Given the description of an element on the screen output the (x, y) to click on. 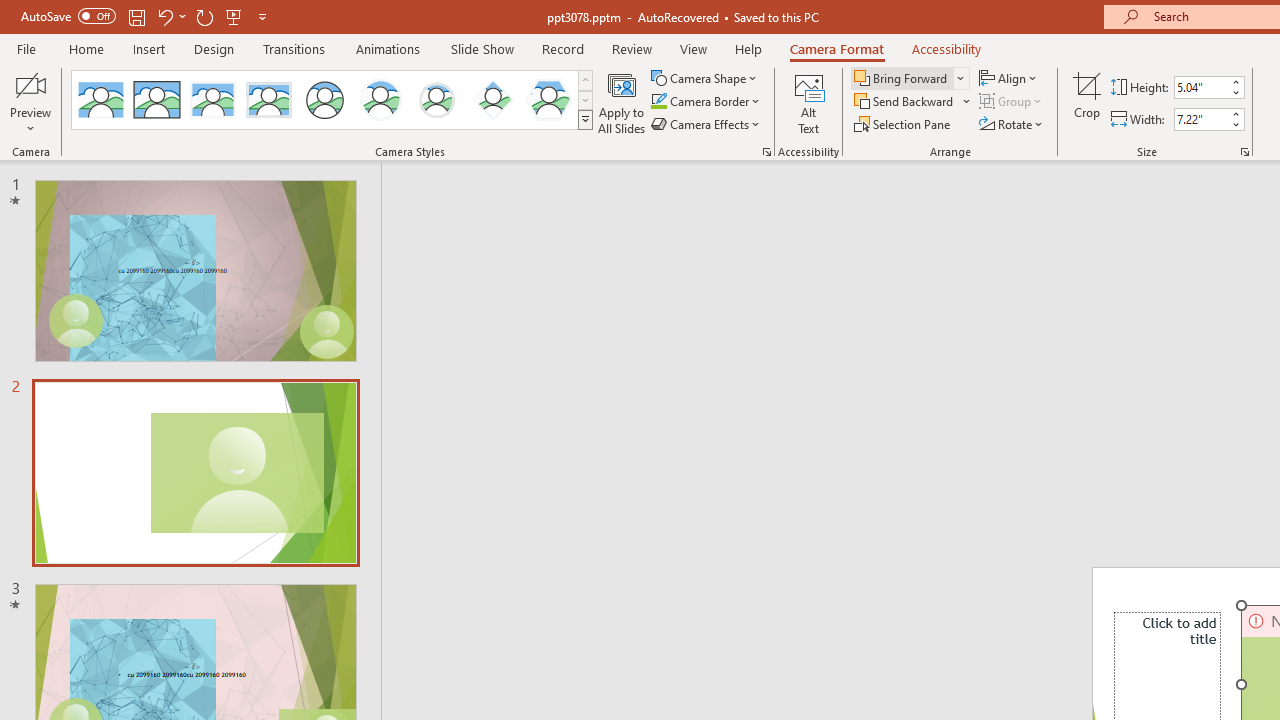
Camera Styles (585, 120)
Soft Edge Rectangle (268, 100)
Simple Frame Rectangle (157, 100)
Camera Border Green, Accent 1 (658, 101)
Camera Border (706, 101)
Cameo Width (1201, 119)
